Given the description of an element on the screen output the (x, y) to click on. 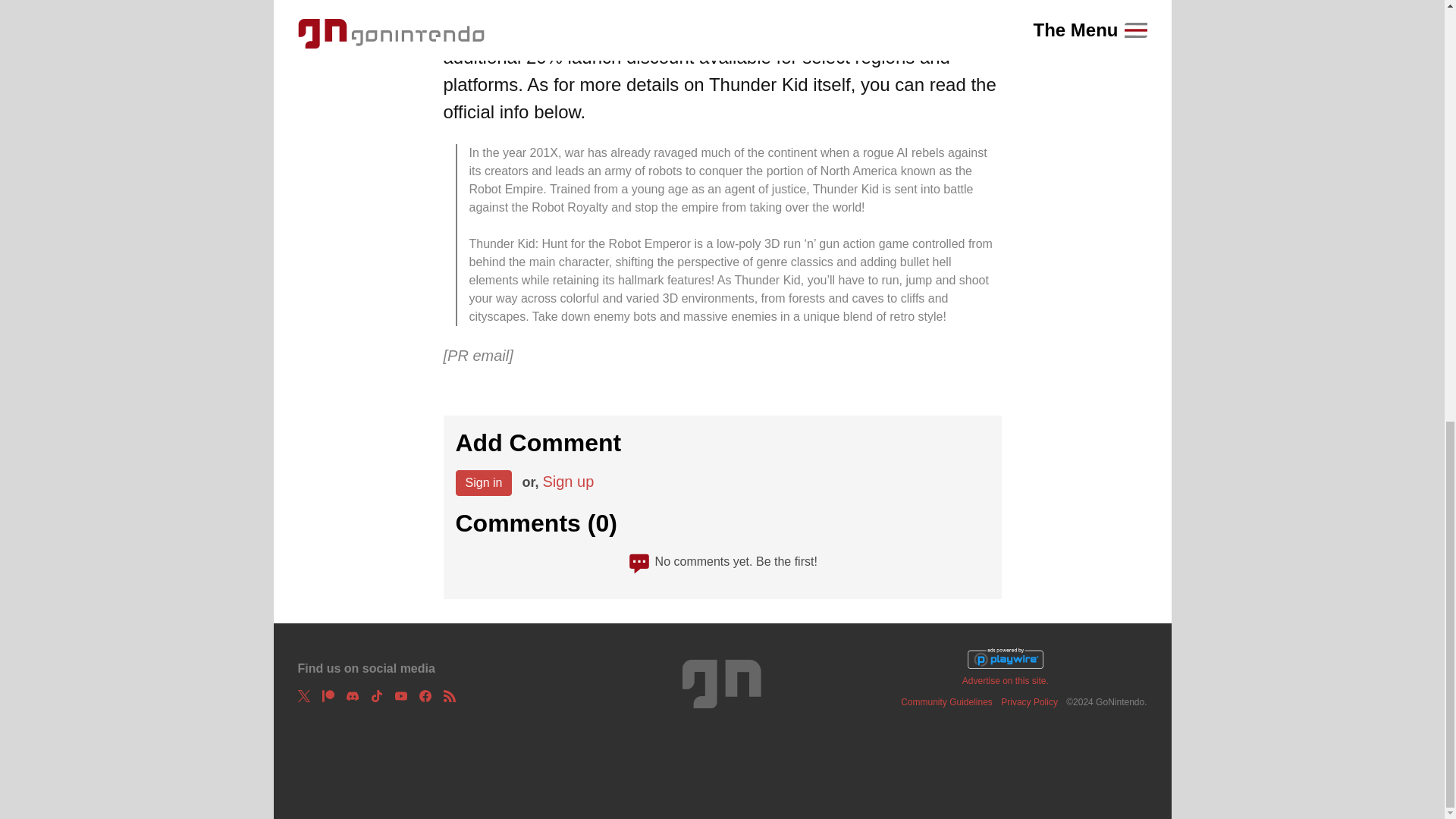
Discord Invite (352, 695)
Support GN on Patreon (327, 695)
Follow us on X (302, 695)
